Given the description of an element on the screen output the (x, y) to click on. 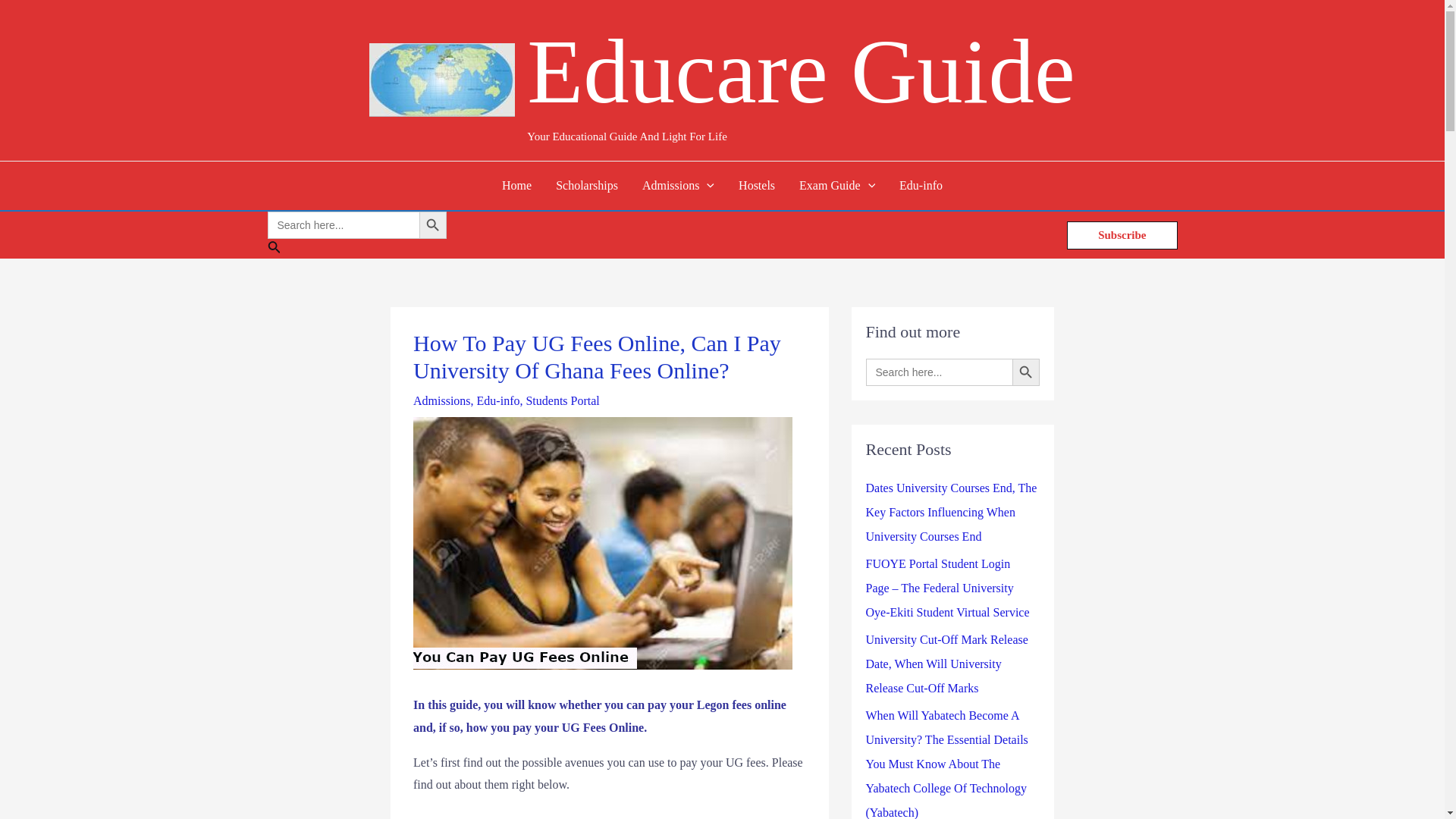
Exam Guide (836, 185)
Home (516, 185)
Admissions (441, 400)
Edu-info (498, 400)
Subscribe (1121, 235)
Scholarships (586, 185)
Search (355, 248)
Students Portal (561, 400)
Educare Guide (800, 71)
Edu-info (920, 185)
